Given the description of an element on the screen output the (x, y) to click on. 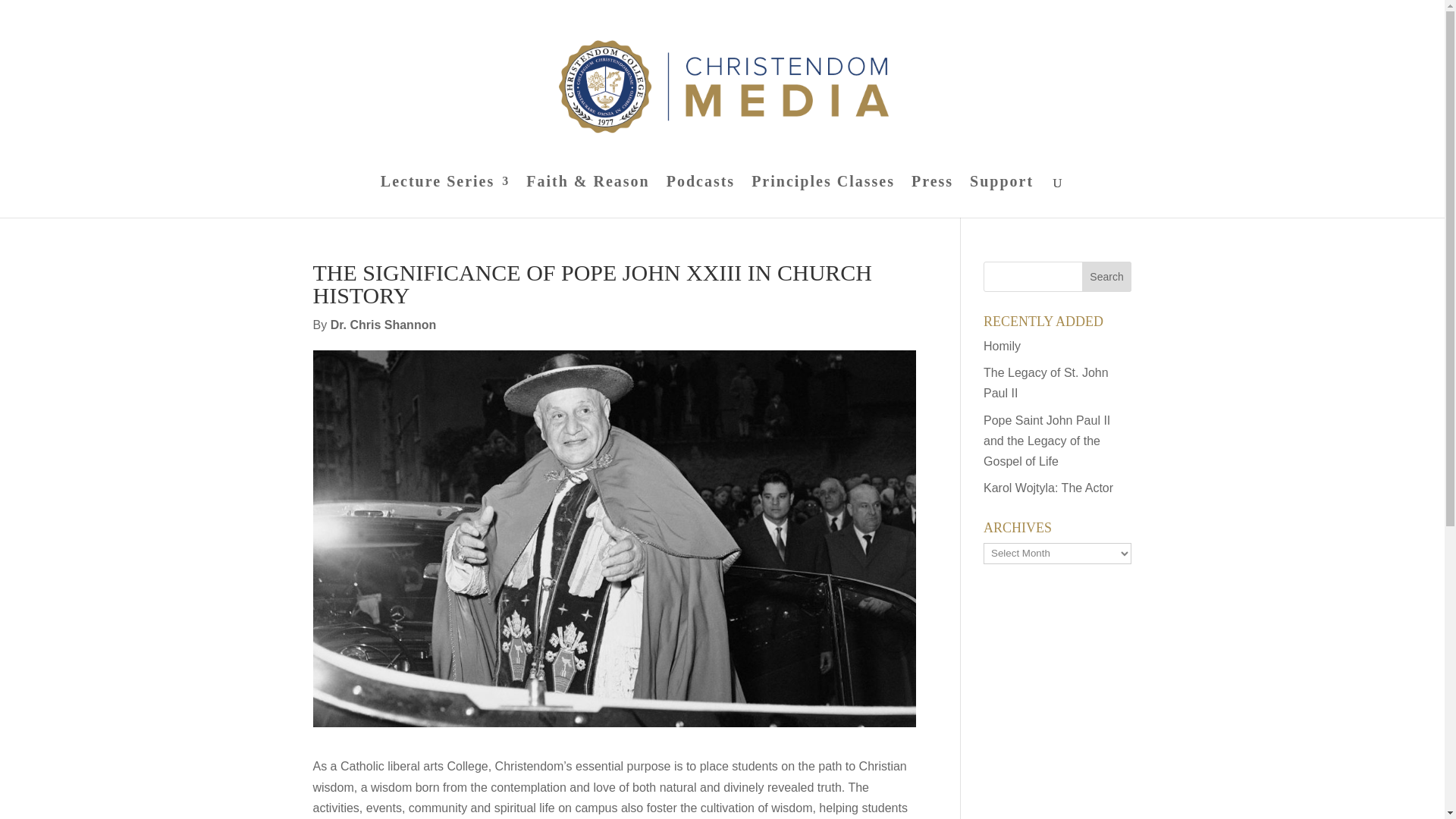
Search (1106, 276)
Principles Classes (823, 196)
Search (1106, 276)
Lecture Series (444, 196)
Karol Wojtyla: The Actor (1048, 487)
Homily (1002, 345)
Press (932, 196)
Podcasts (700, 196)
Pope Saint John Paul II and the Legacy of the Gospel of Life (1046, 440)
The Legacy of St. John Paul II (1046, 382)
Support (1001, 196)
